Given the description of an element on the screen output the (x, y) to click on. 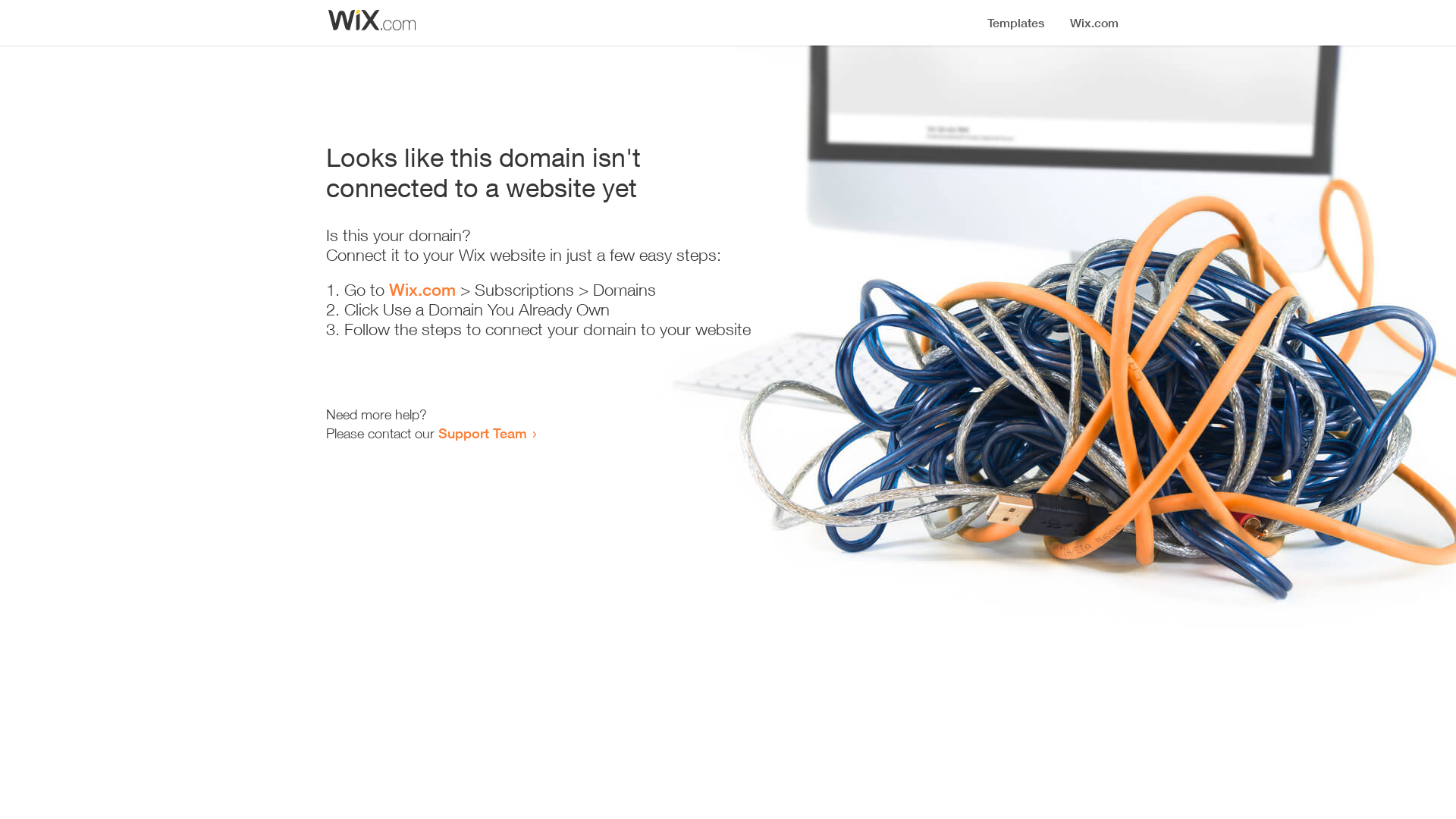
Support Team Element type: text (482, 432)
Wix.com Element type: text (422, 289)
